Given the description of an element on the screen output the (x, y) to click on. 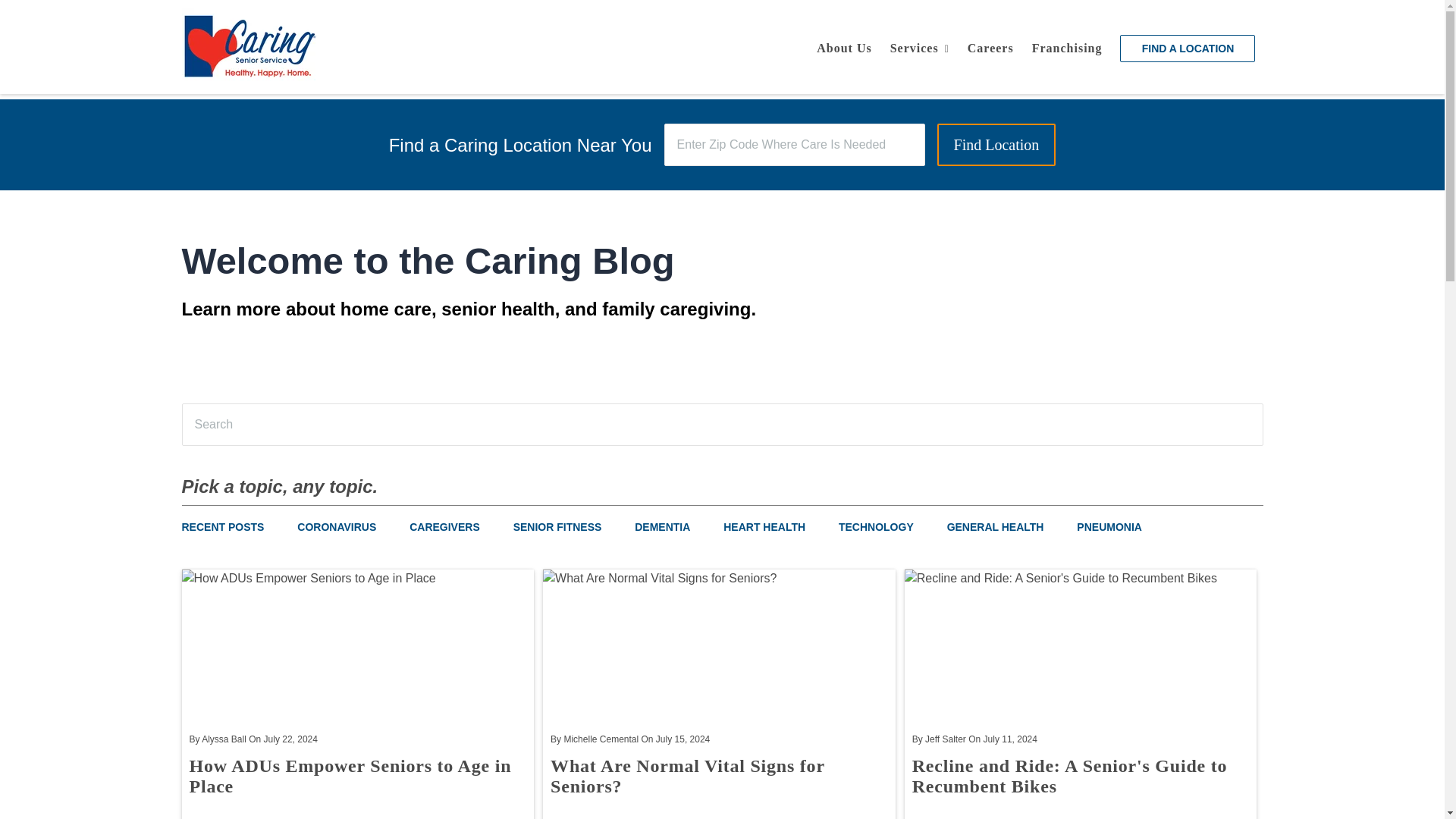
About Us (844, 48)
Franchising (1067, 48)
FIND A LOCATION (1187, 48)
Find Location (997, 144)
Careers (990, 48)
Find Location (997, 144)
Services (919, 49)
